Given the description of an element on the screen output the (x, y) to click on. 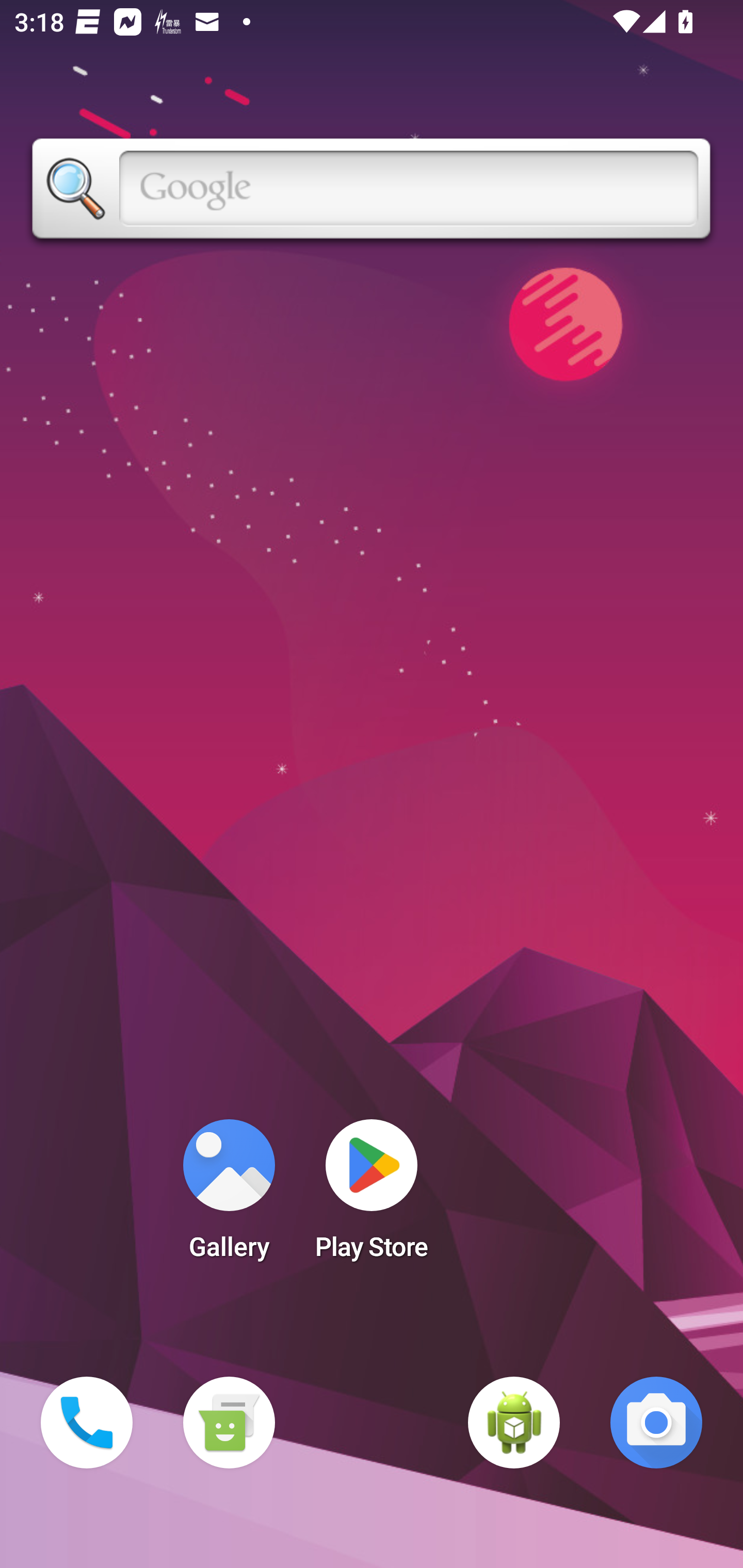
Gallery (228, 1195)
Play Store (371, 1195)
Phone (86, 1422)
Messaging (228, 1422)
WebView Browser Tester (513, 1422)
Camera (656, 1422)
